Given the description of an element on the screen output the (x, y) to click on. 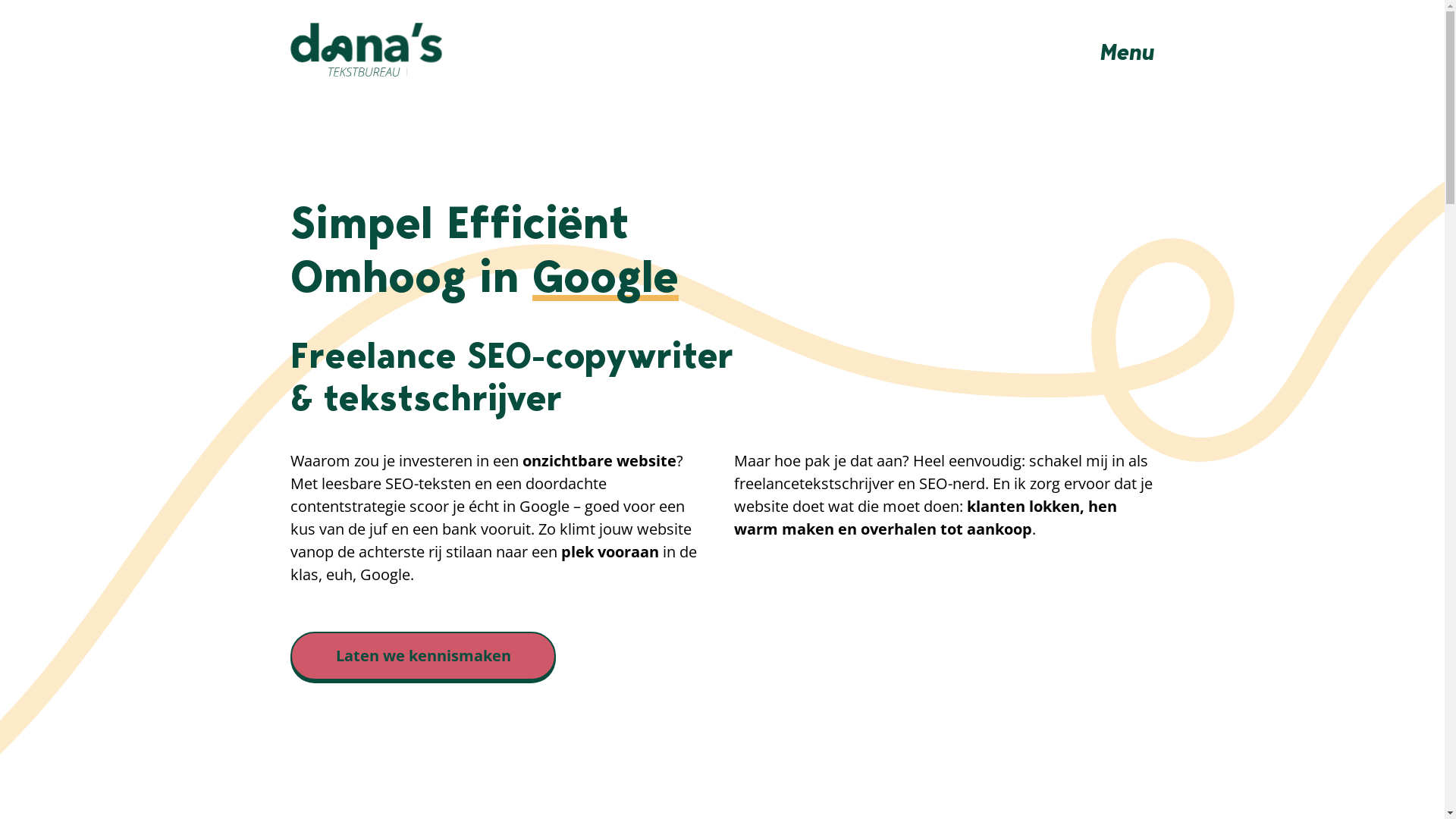
Laten we kennismaken Element type: text (422, 655)
Menu Element type: text (1126, 52)
